Given the description of an element on the screen output the (x, y) to click on. 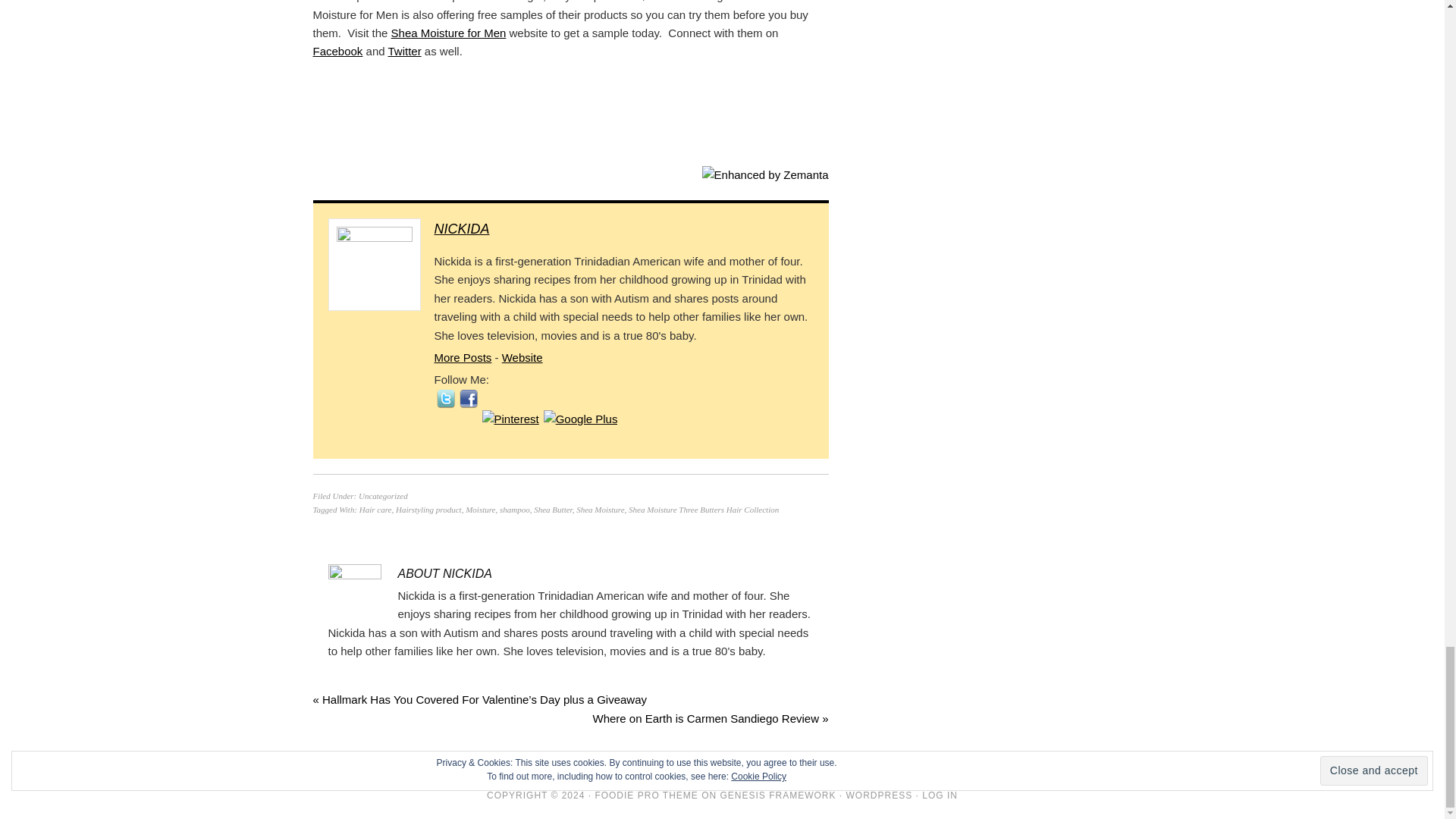
Shea Moisture for Men (448, 32)
Twitter (403, 51)
Nickida (461, 228)
Facebook (337, 51)
Nickida (522, 357)
More posts by Nickida (462, 357)
